Given the description of an element on the screen output the (x, y) to click on. 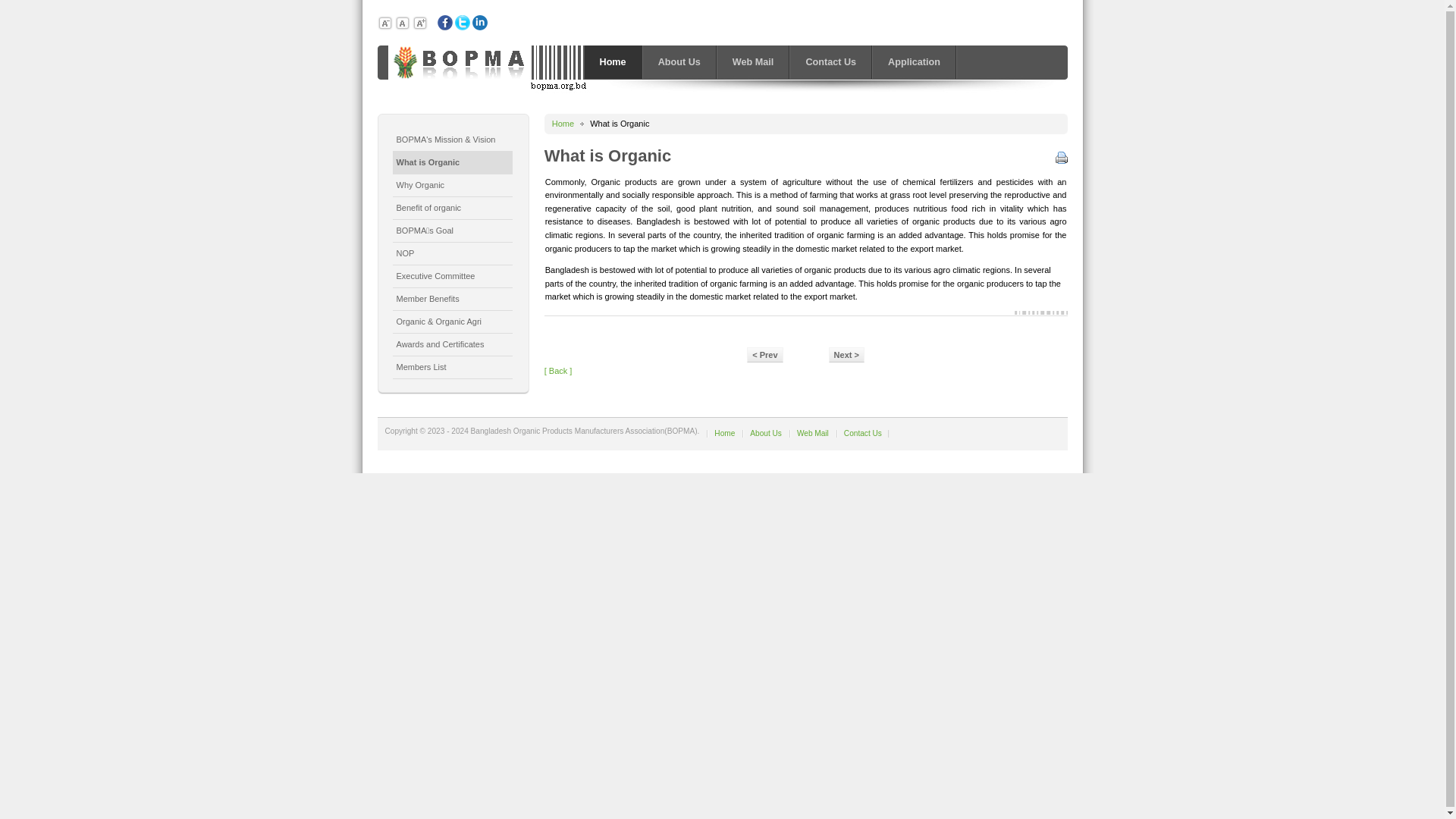
Decrease font size Element type: hover (384, 22)
Default size Element type: hover (402, 22)
Facebook Element type: hover (444, 22)
Web Mail Element type: text (812, 433)
About Us Element type: text (765, 433)
Print Element type: hover (1061, 154)
Home Element type: text (724, 433)
< Prev Element type: text (764, 354)
Home Element type: text (563, 123)
Twiter Element type: hover (462, 22)
Web Mail Element type: text (753, 61)
Application Element type: text (914, 61)
BOPMA's Mission & Vision Element type: text (452, 139)
Why Organic Element type: text (452, 185)
BANGLADESH ORGANIC PRODUCTS MANUFACTURERS ASSOCIATION Element type: text (452, 62)
Home Element type: text (612, 61)
Contact Us Element type: text (830, 61)
Executive Committee Element type: text (452, 276)
Linkedin Element type: hover (479, 22)
Next > Element type: text (846, 354)
Contact Us Element type: text (862, 433)
[ Back ] Element type: text (558, 370)
Awards and Certificates Element type: text (452, 344)
NOP Element type: text (452, 253)
Benefit of organic Element type: text (452, 208)
About Us Element type: text (679, 61)
Member Benefits Element type: text (452, 299)
Increase font size Element type: hover (419, 22)
Members List Element type: text (452, 367)
Organic & Organic Agri Element type: text (452, 321)
What is Organic Element type: text (452, 162)
